Given the description of an element on the screen output the (x, y) to click on. 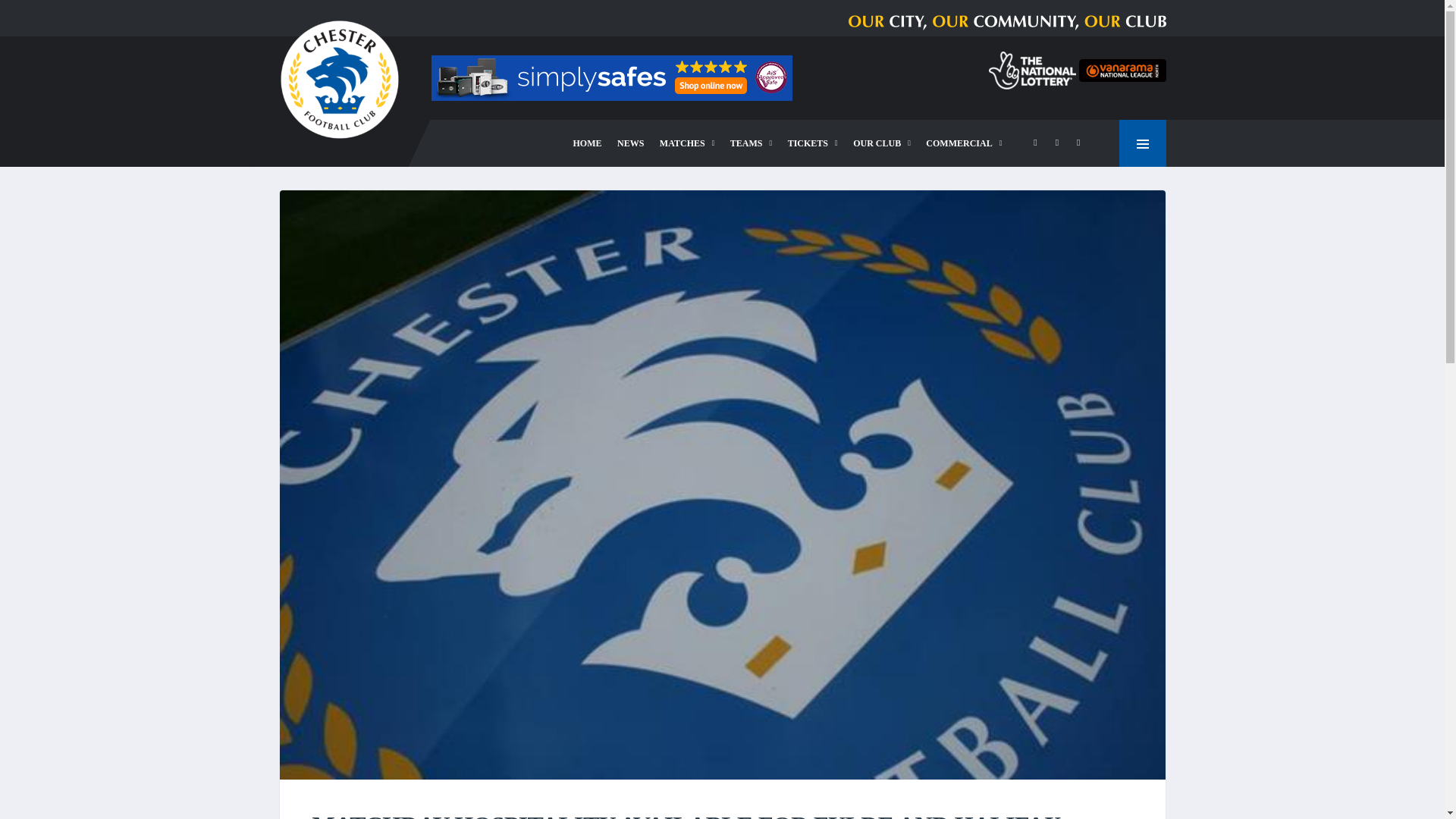
TEAMS (750, 143)
OUR CLUB (882, 143)
HOME (587, 143)
NEWS (630, 143)
TICKETS (812, 143)
MATCHES (686, 143)
